Given the description of an element on the screen output the (x, y) to click on. 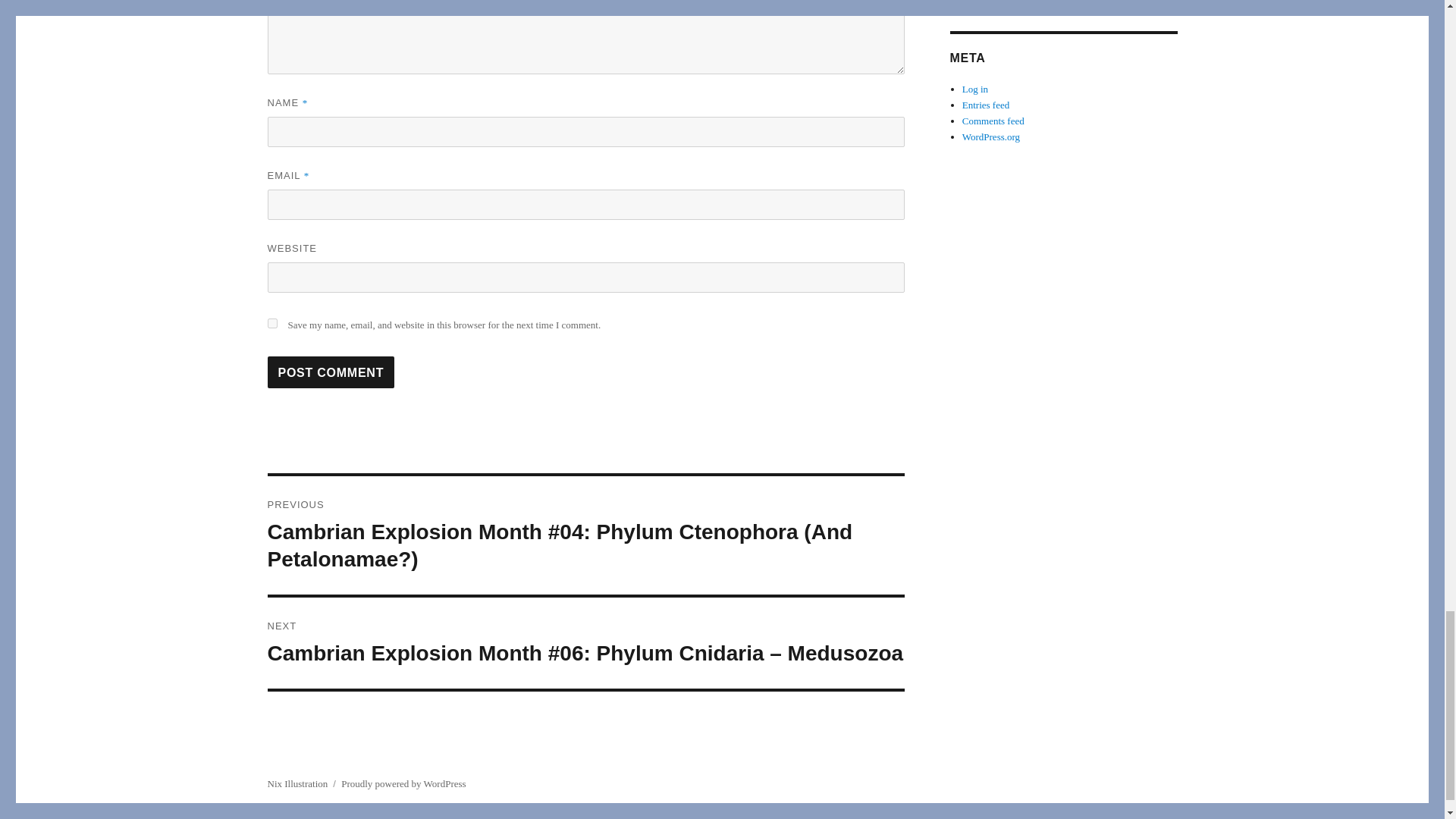
Post Comment (330, 372)
yes (271, 323)
